Given the description of an element on the screen output the (x, y) to click on. 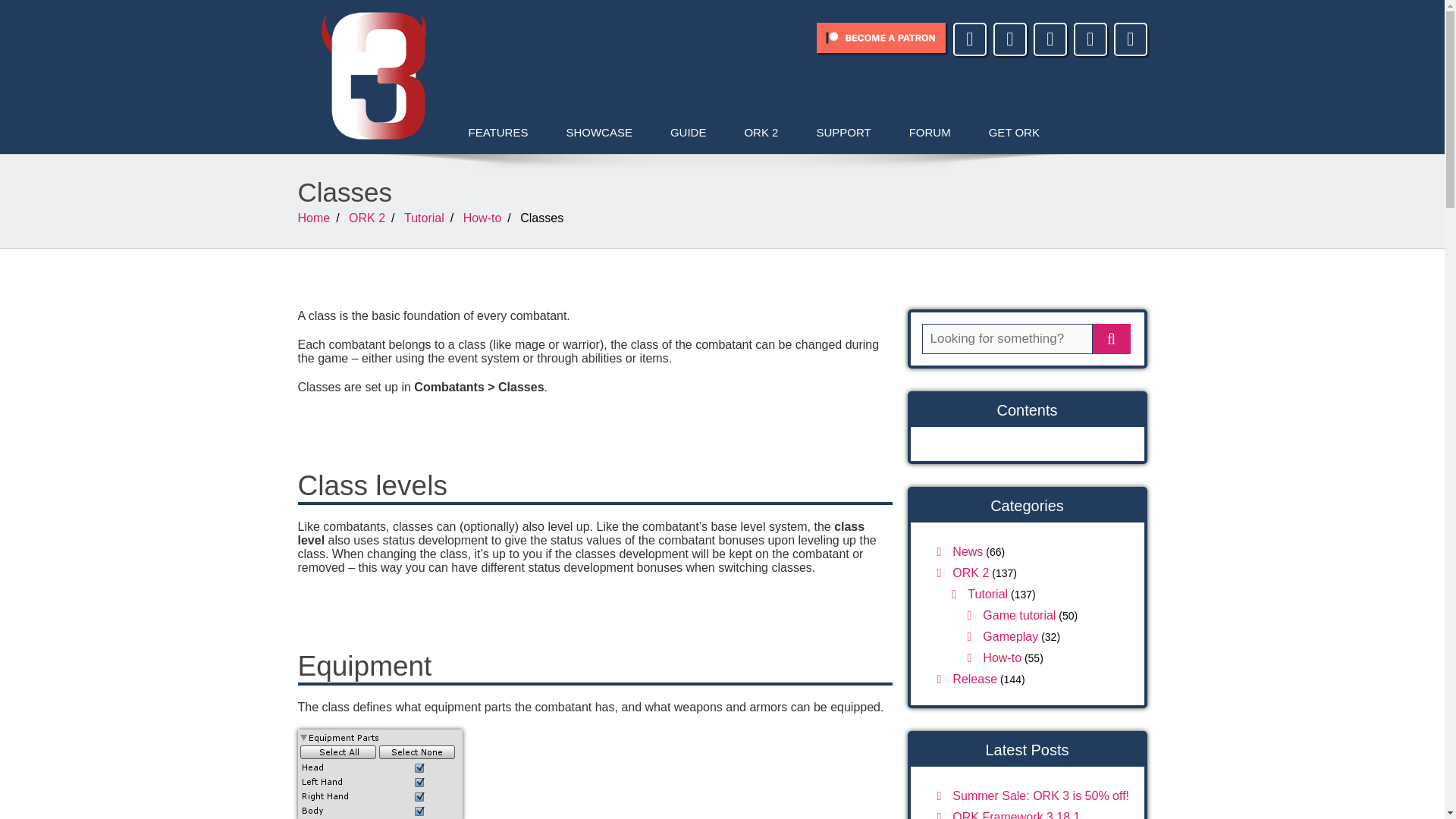
News (960, 551)
ORK 2 (963, 572)
Game tutorial (1012, 615)
ORK Framework - RPG Editor for Unity (372, 75)
Tutorial (424, 217)
Twitter (1050, 41)
FEATURES (497, 131)
Tutorial (980, 594)
E-Mail (970, 41)
ORK 2 (367, 217)
